Given the description of an element on the screen output the (x, y) to click on. 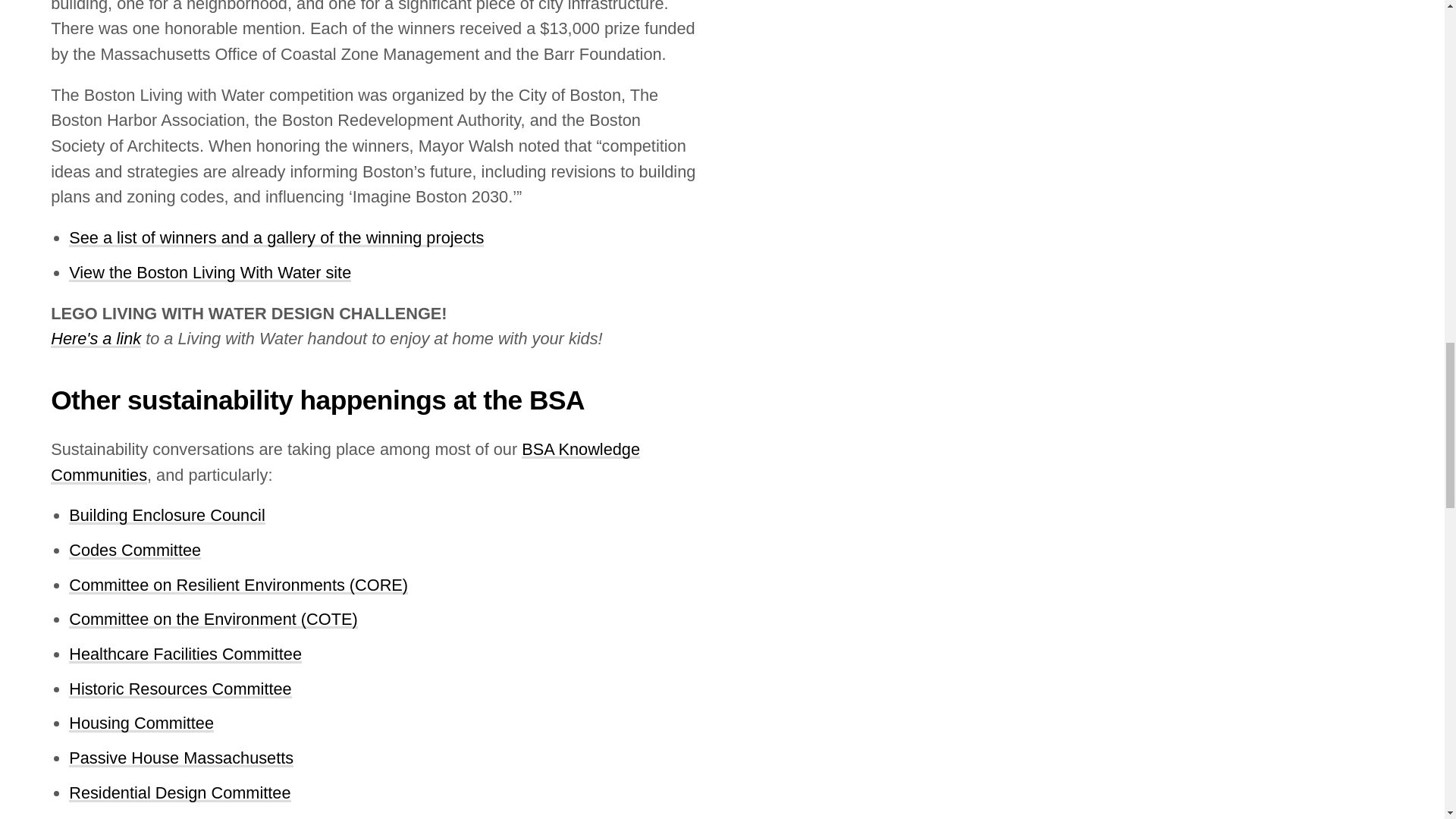
Here's a link (248, 351)
See a list of winners and a gallery of the winning projects (275, 237)
Healthcare Facilities Committee (184, 653)
Historic Resources Committee (180, 688)
Codes Committee (134, 549)
BSA Knowledge Communities (345, 461)
Building Enclosure Council (166, 515)
View the Boston Living With Water site (209, 271)
